Given the description of an element on the screen output the (x, y) to click on. 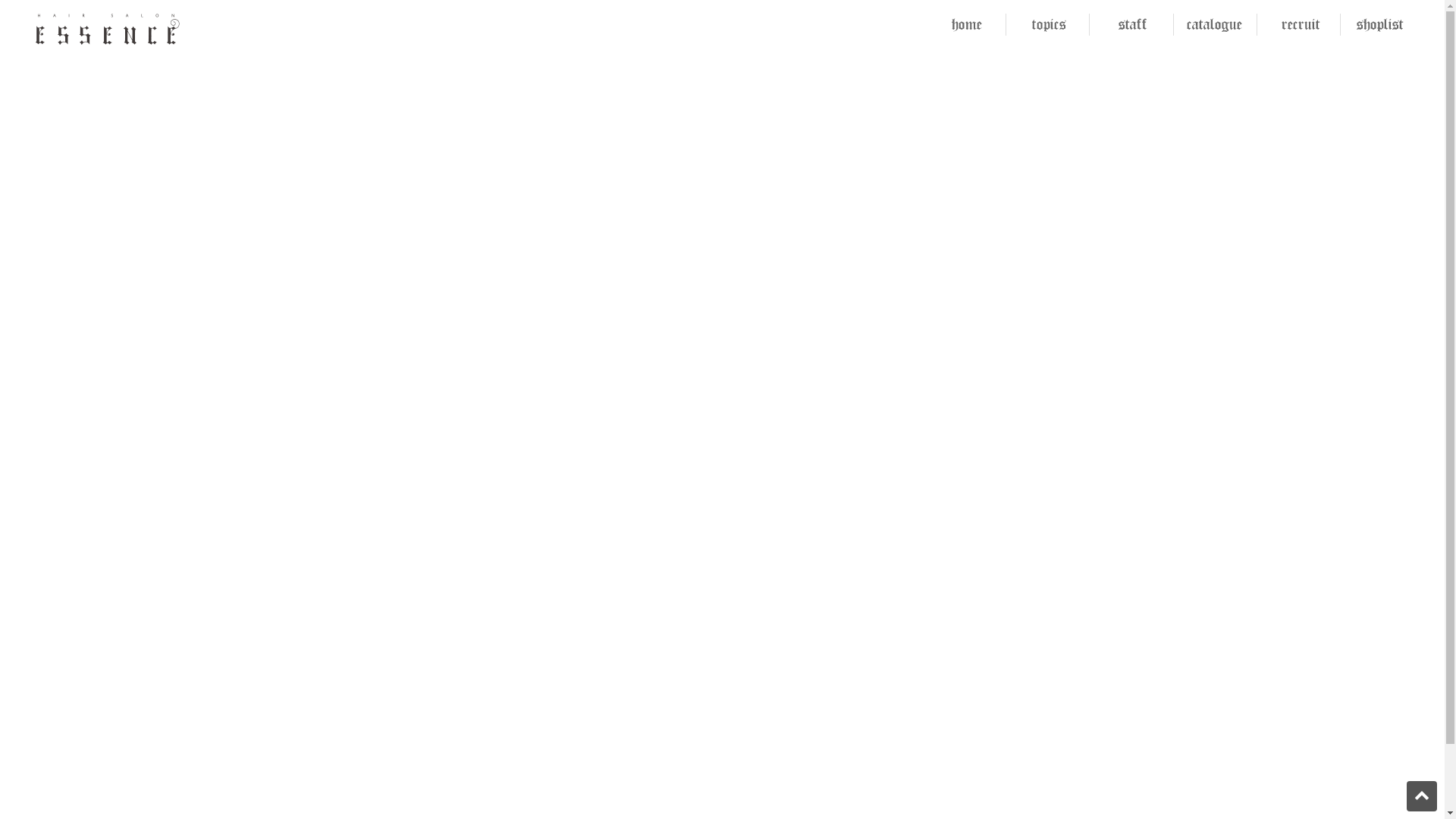
PAGE TOP Element type: text (1421, 796)
